Given the description of an element on the screen output the (x, y) to click on. 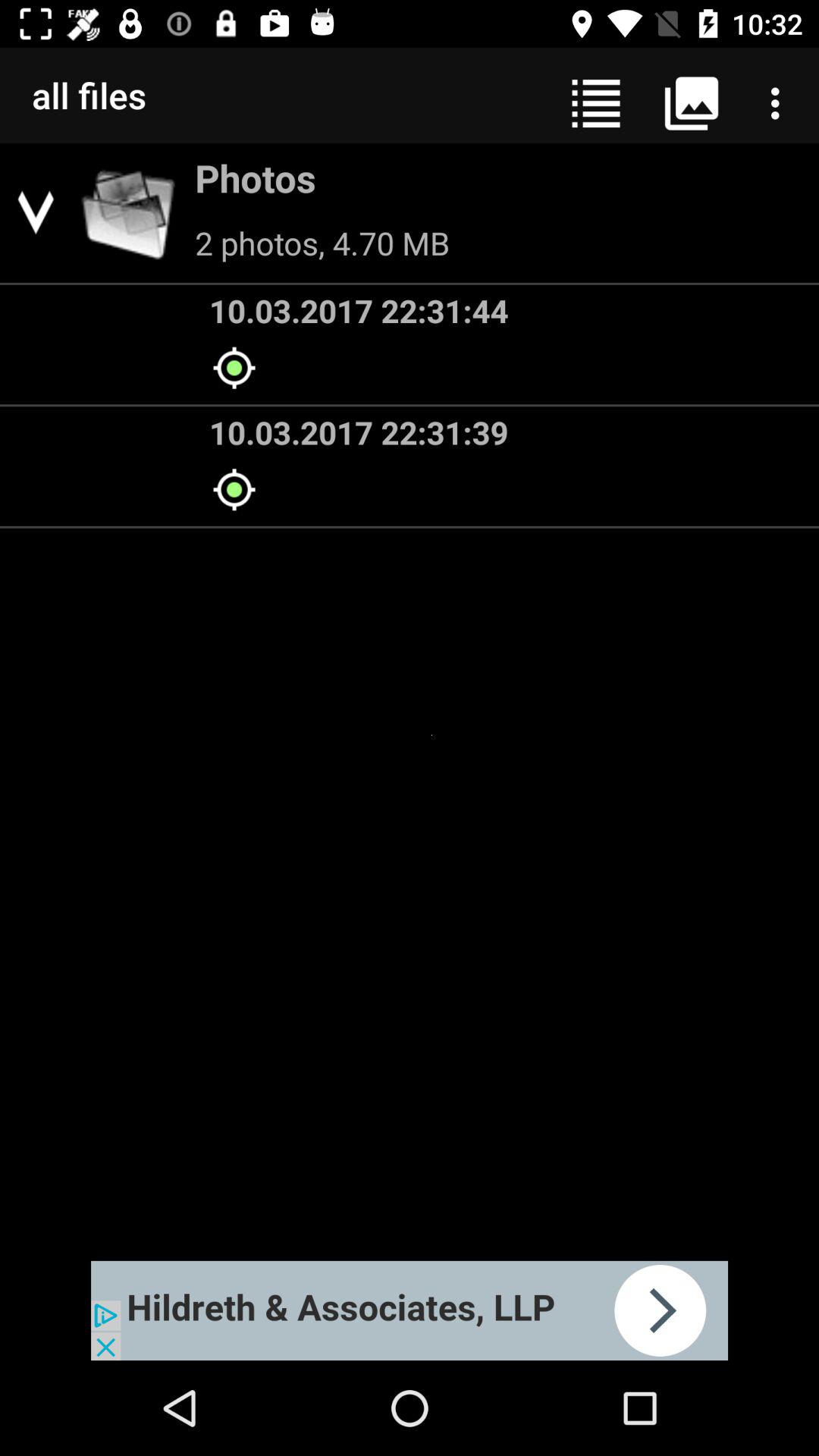
go to advertisement (409, 1310)
